Given the description of an element on the screen output the (x, y) to click on. 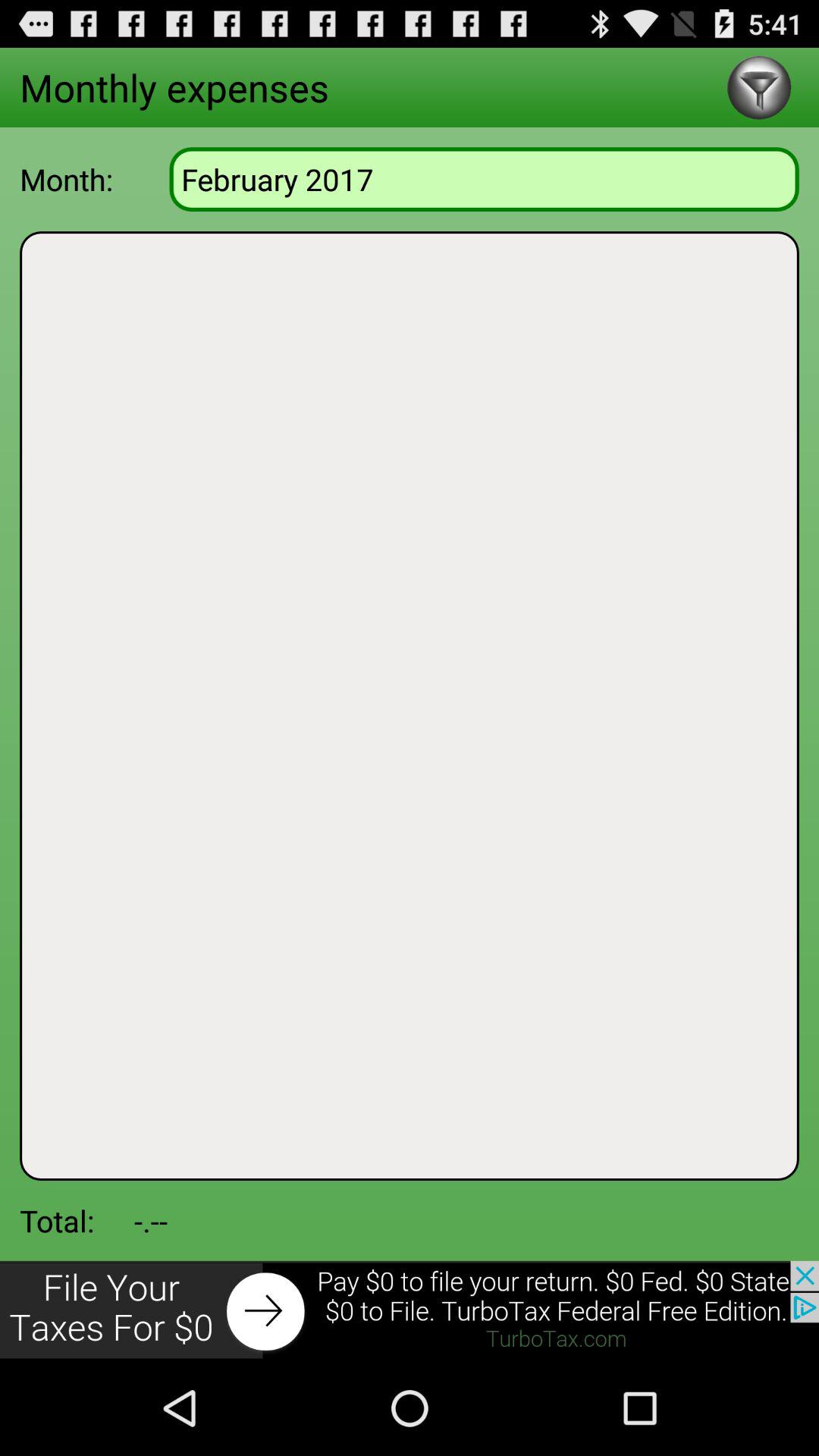
search (759, 87)
